Given the description of an element on the screen output the (x, y) to click on. 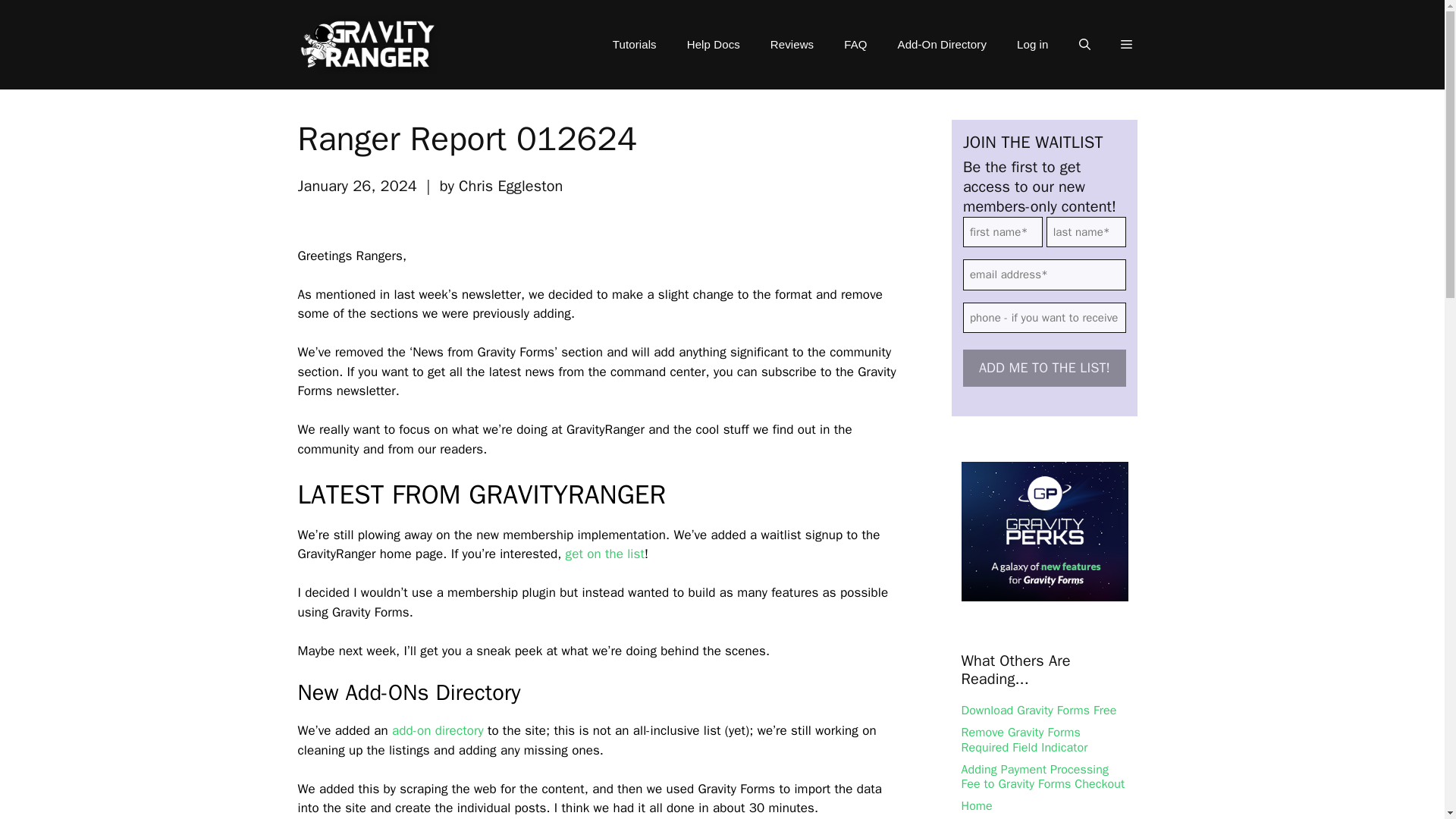
Adding Payment Processing Fee to Gravity Forms Checkout (1042, 776)
add-on directory (437, 730)
ADD ME TO THE LIST! (1043, 367)
Log in (1031, 44)
Tutorials (633, 44)
get on the list (605, 553)
Home (976, 806)
FAQ (855, 44)
ADD ME TO THE LIST! (1043, 367)
Help Docs (713, 44)
